Given the description of an element on the screen output the (x, y) to click on. 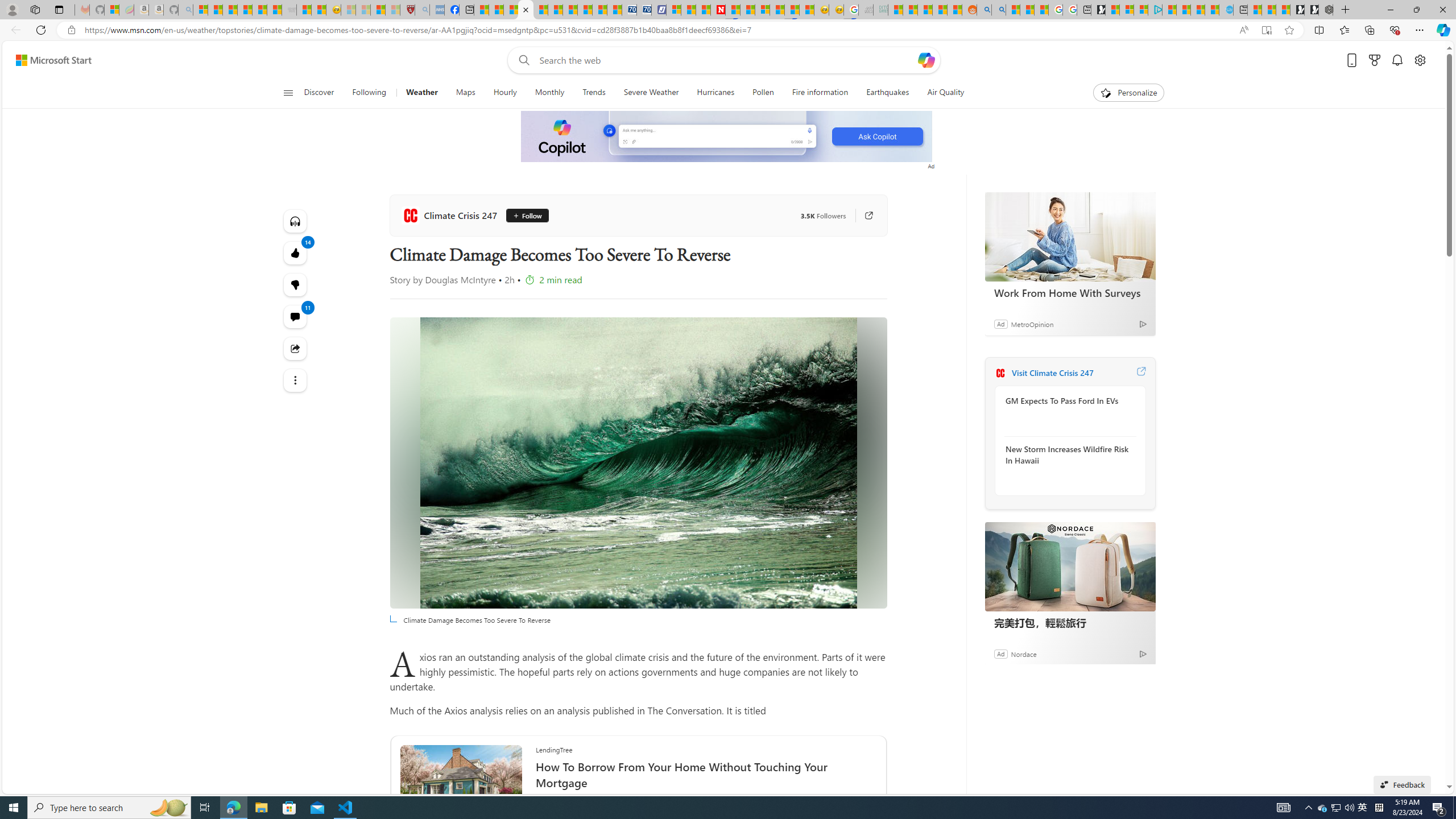
Severe Weather (651, 92)
Utah sues federal government - Search (998, 9)
